Given the description of an element on the screen output the (x, y) to click on. 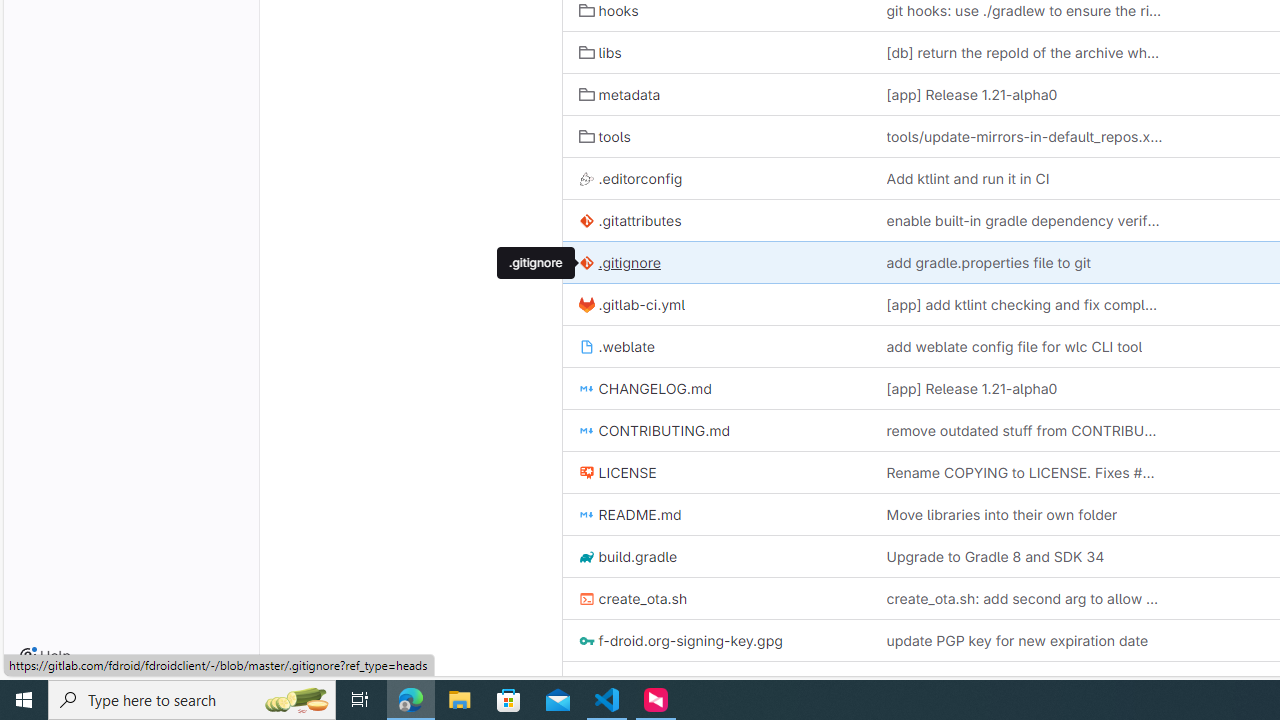
Rename COPYING to LICENSE. Fixes #384 (1024, 471)
Help (45, 655)
create_ota.sh (633, 598)
README.md (715, 514)
update PGP key for new expiration date (1017, 641)
add gradle.properties file to git (1024, 262)
build.gradle (628, 556)
Move libraries into their own folder (1001, 514)
.weblate (616, 346)
libs (600, 52)
[app] Release 1.21-alpha0 (1024, 388)
tools (604, 136)
